Given the description of an element on the screen output the (x, y) to click on. 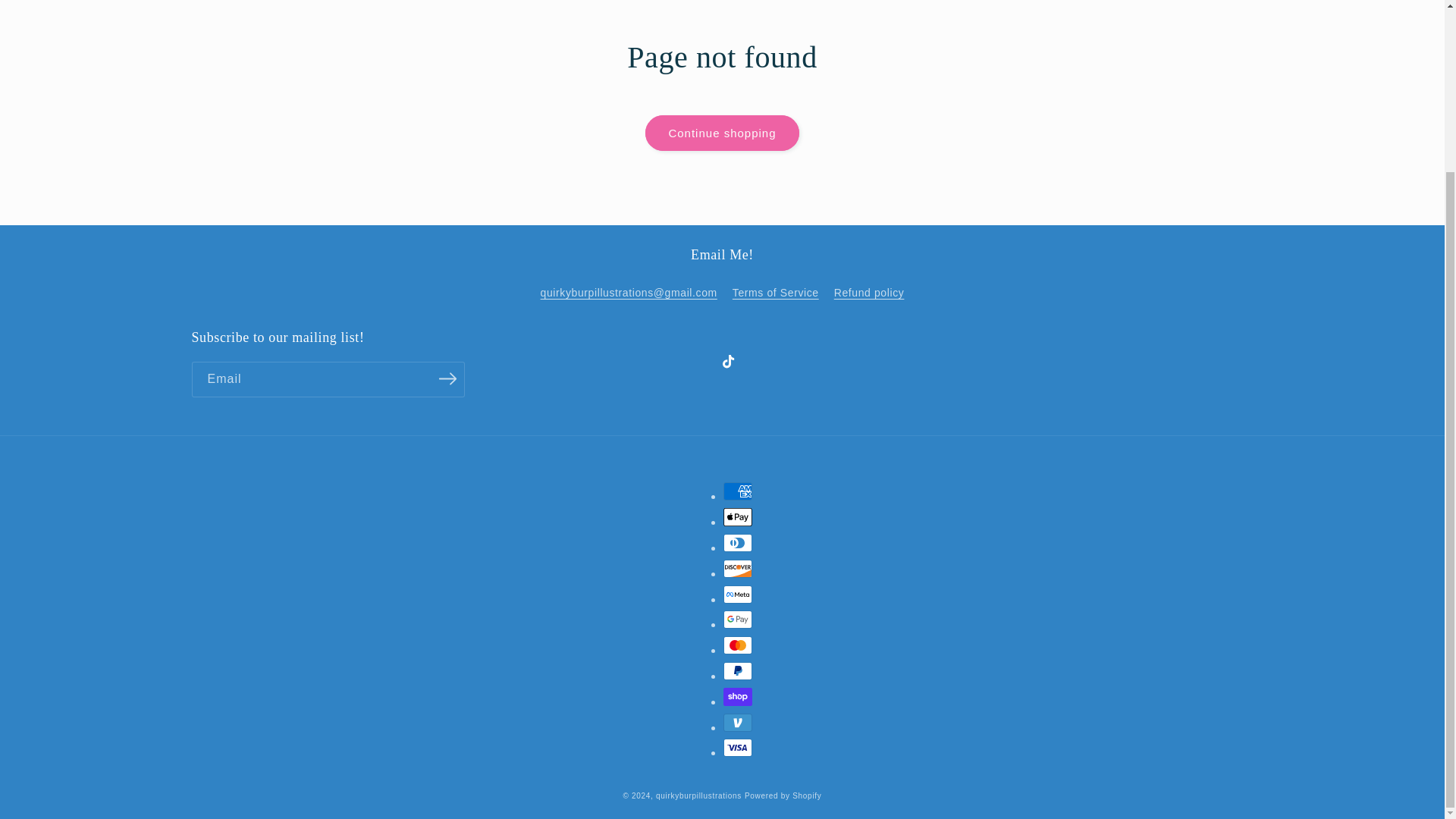
American Express (737, 491)
Shop Pay (737, 696)
Google Pay (737, 619)
Meta Pay (737, 594)
Apple Pay (737, 516)
Mastercard (737, 645)
Visa (737, 747)
Venmo (737, 722)
PayPal (737, 670)
Discover (737, 568)
Diners Club (737, 542)
